Given the description of an element on the screen output the (x, y) to click on. 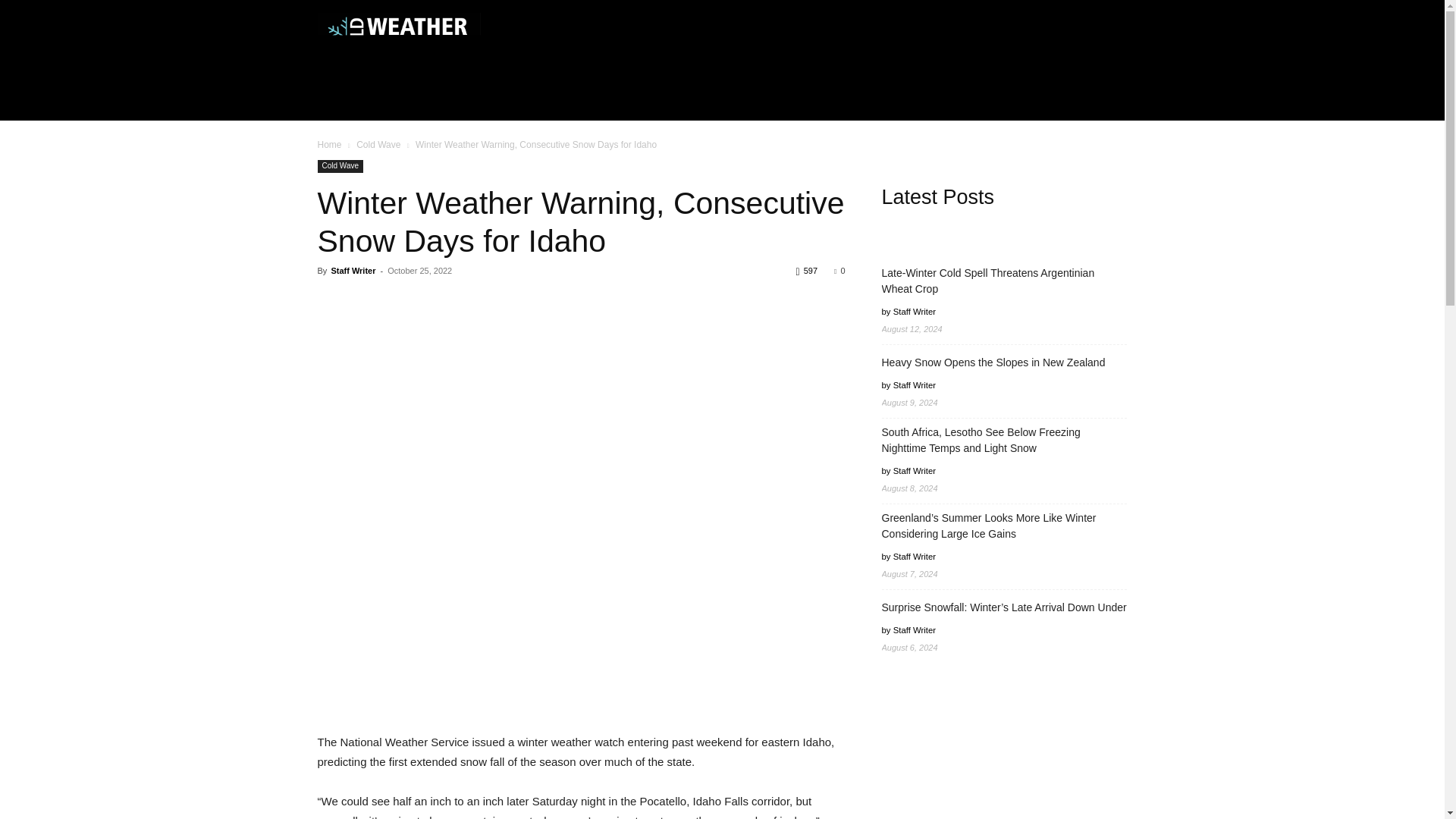
0 (839, 270)
View all posts in Cold Wave (378, 144)
Late-Winter Cold Spell Threatens Argentinian Wheat Crop (1003, 281)
Staff Writer (352, 270)
Cold Wave (339, 165)
Home (328, 144)
Cold Wave (378, 144)
Heavy Snow Opens the Slopes in New Zealand (992, 362)
